Given the description of an element on the screen output the (x, y) to click on. 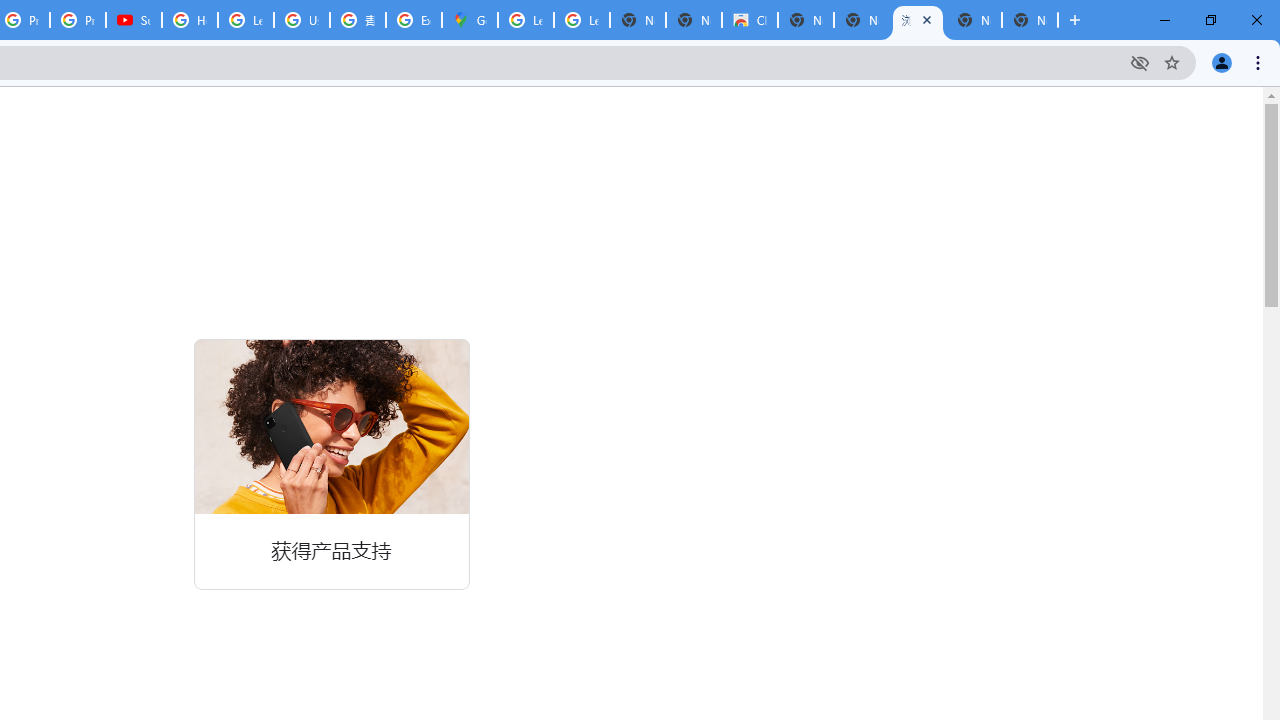
Google Maps (469, 20)
Subscriptions - YouTube (134, 20)
